Given the description of an element on the screen output the (x, y) to click on. 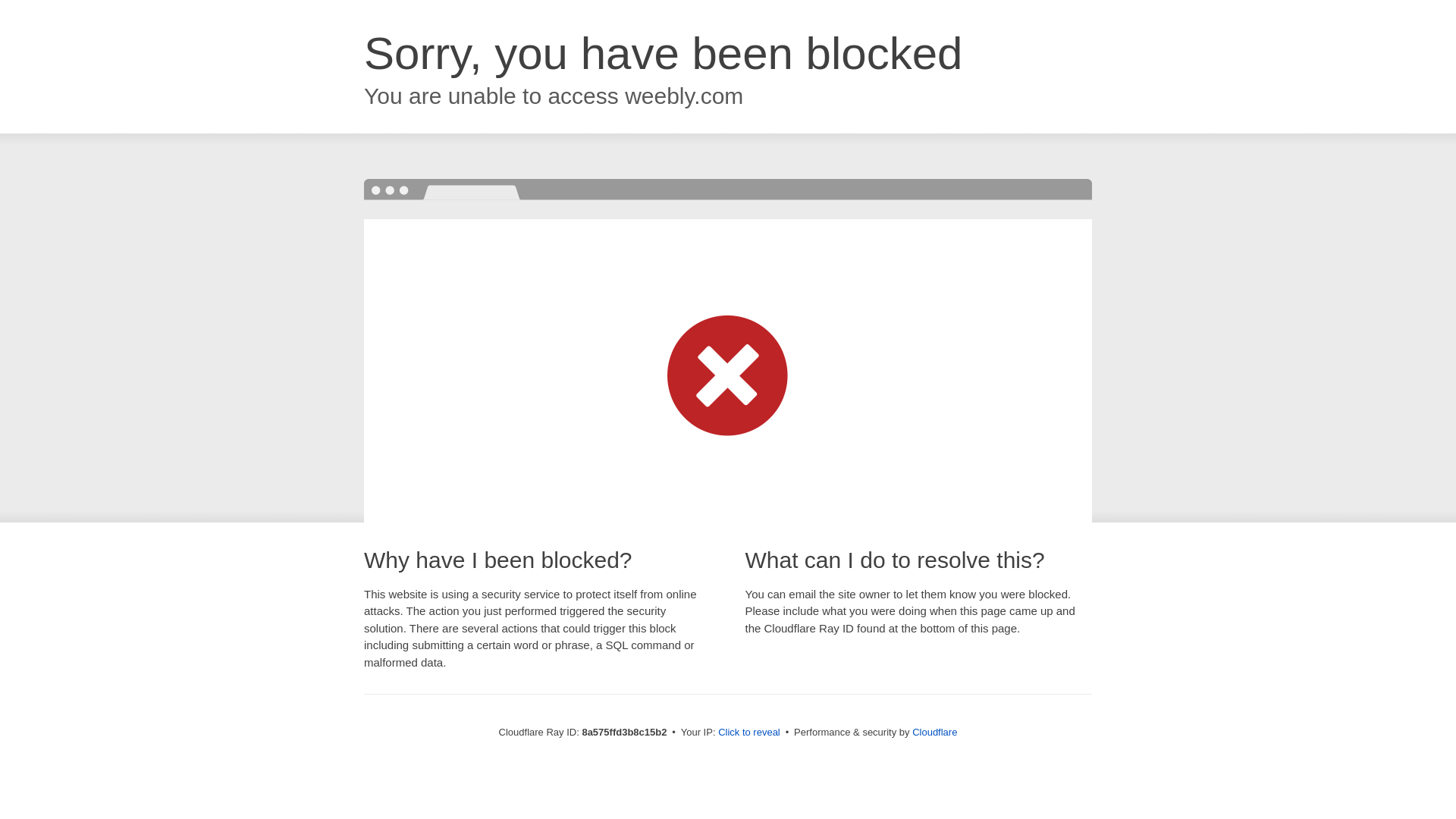
Cloudflare (934, 731)
Click to reveal (748, 732)
